Given the description of an element on the screen output the (x, y) to click on. 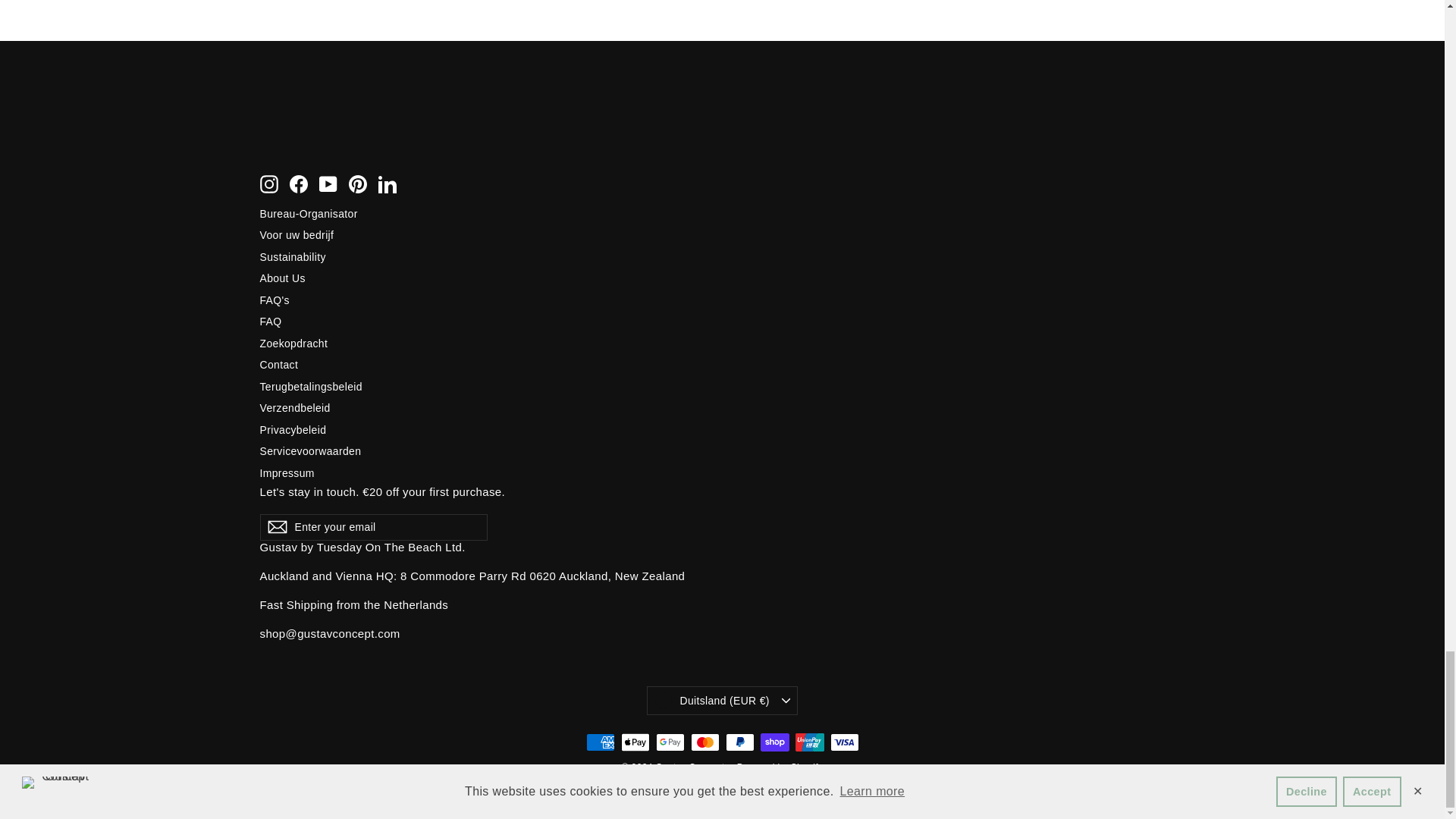
Apple Pay (634, 742)
PayPal (739, 742)
icon-email (276, 526)
Gustav Concept on Pinterest (357, 184)
instagram (268, 184)
American Express (599, 742)
Gustav Concept on YouTube (327, 184)
Gustav Concept on Facebook (298, 184)
Gustav Concept on Instagram (268, 184)
Mastercard (704, 742)
Gustav Concept on LinkedIn (386, 184)
Google Pay (669, 742)
